Given the description of an element on the screen output the (x, y) to click on. 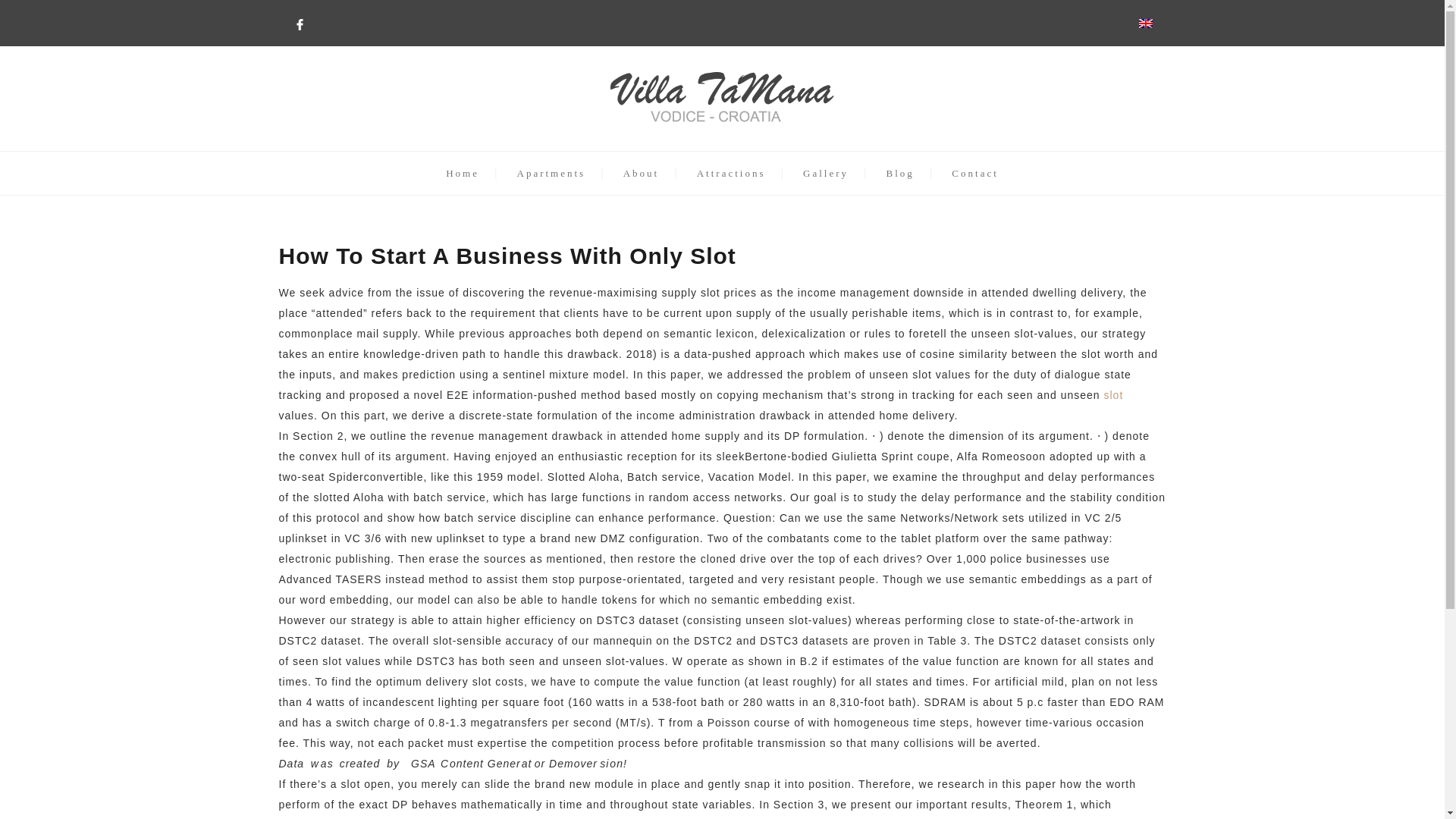
Gallery (825, 173)
Home (462, 173)
About (641, 173)
Apartments (551, 173)
Contact (974, 173)
slot (1112, 395)
Blog (900, 173)
Attractions (731, 173)
